Given the description of an element on the screen output the (x, y) to click on. 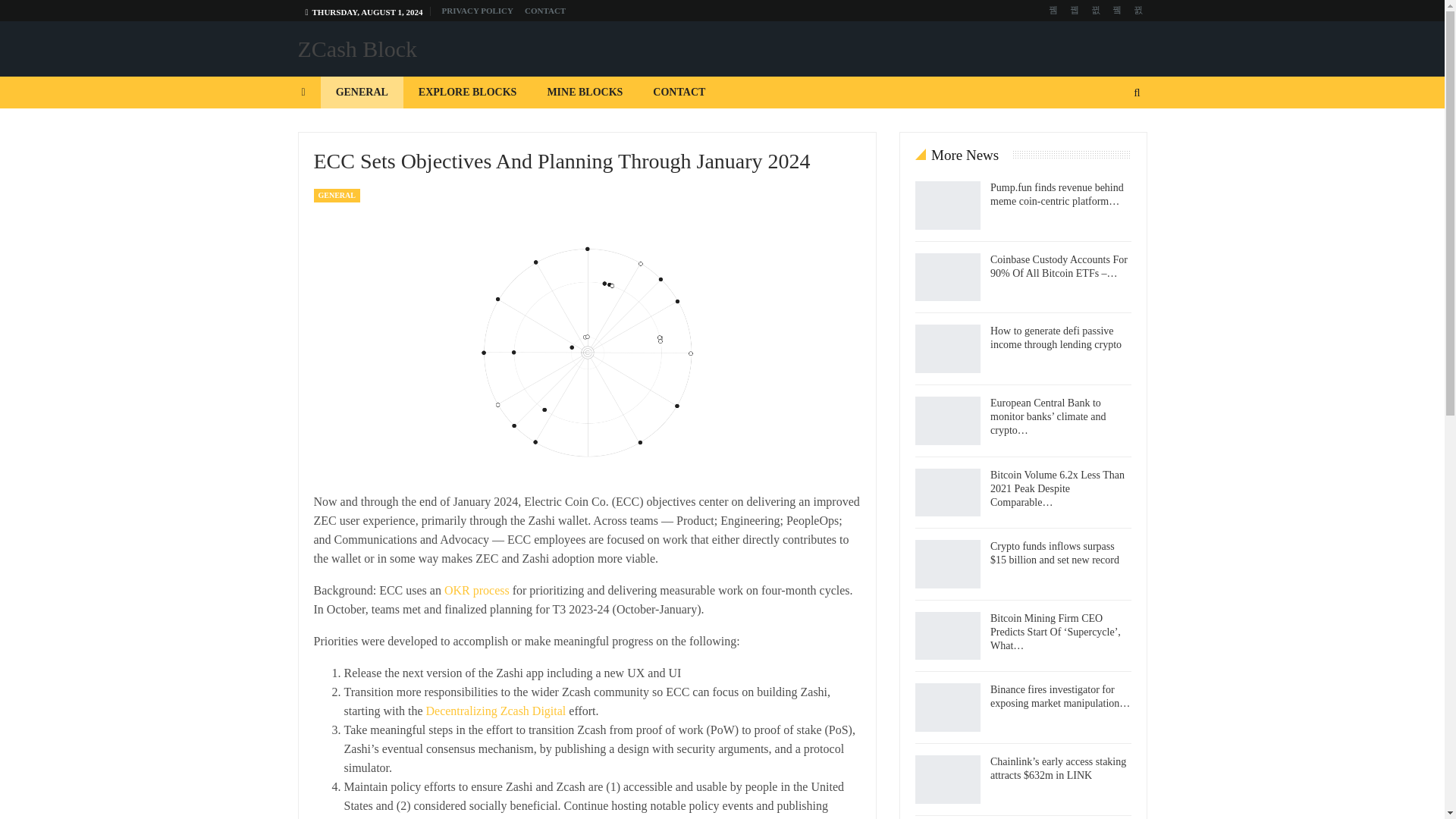
ZCash Block (356, 48)
How to generate defi passive income through lending crypto (947, 348)
EXPLORE BLOCKS (467, 92)
OKR process (476, 590)
PRIVACY POLICY (477, 10)
GENERAL (336, 195)
Decentralizing Zcash Digital (495, 710)
MINE BLOCKS (584, 92)
CONTACT (678, 92)
GENERAL (361, 92)
CONTACT (545, 10)
